Given the description of an element on the screen output the (x, y) to click on. 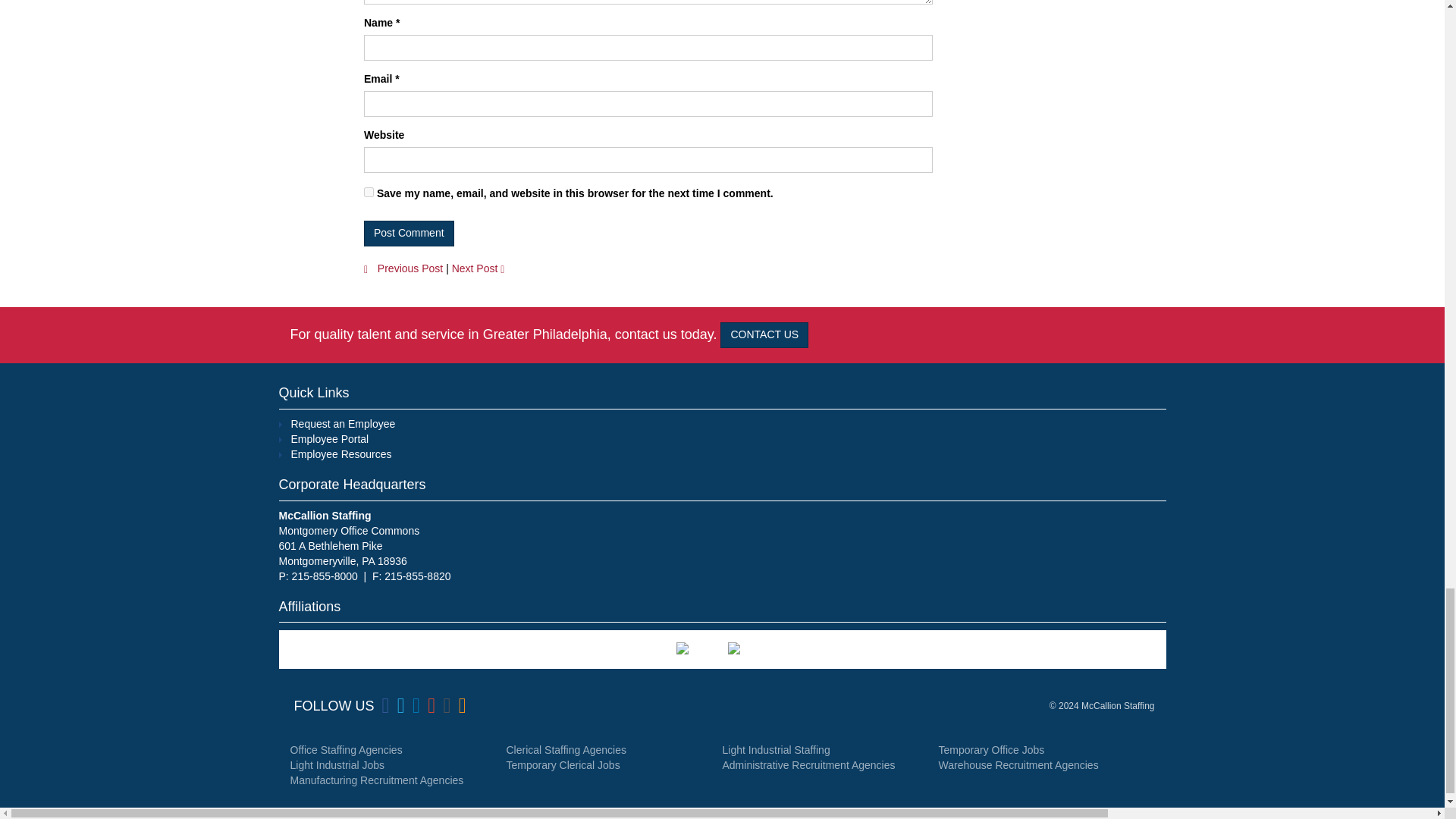
Post Comment (409, 233)
Next Post (481, 268)
yes (369, 192)
Post Comment (409, 233)
Previous Post (403, 268)
